Given the description of an element on the screen output the (x, y) to click on. 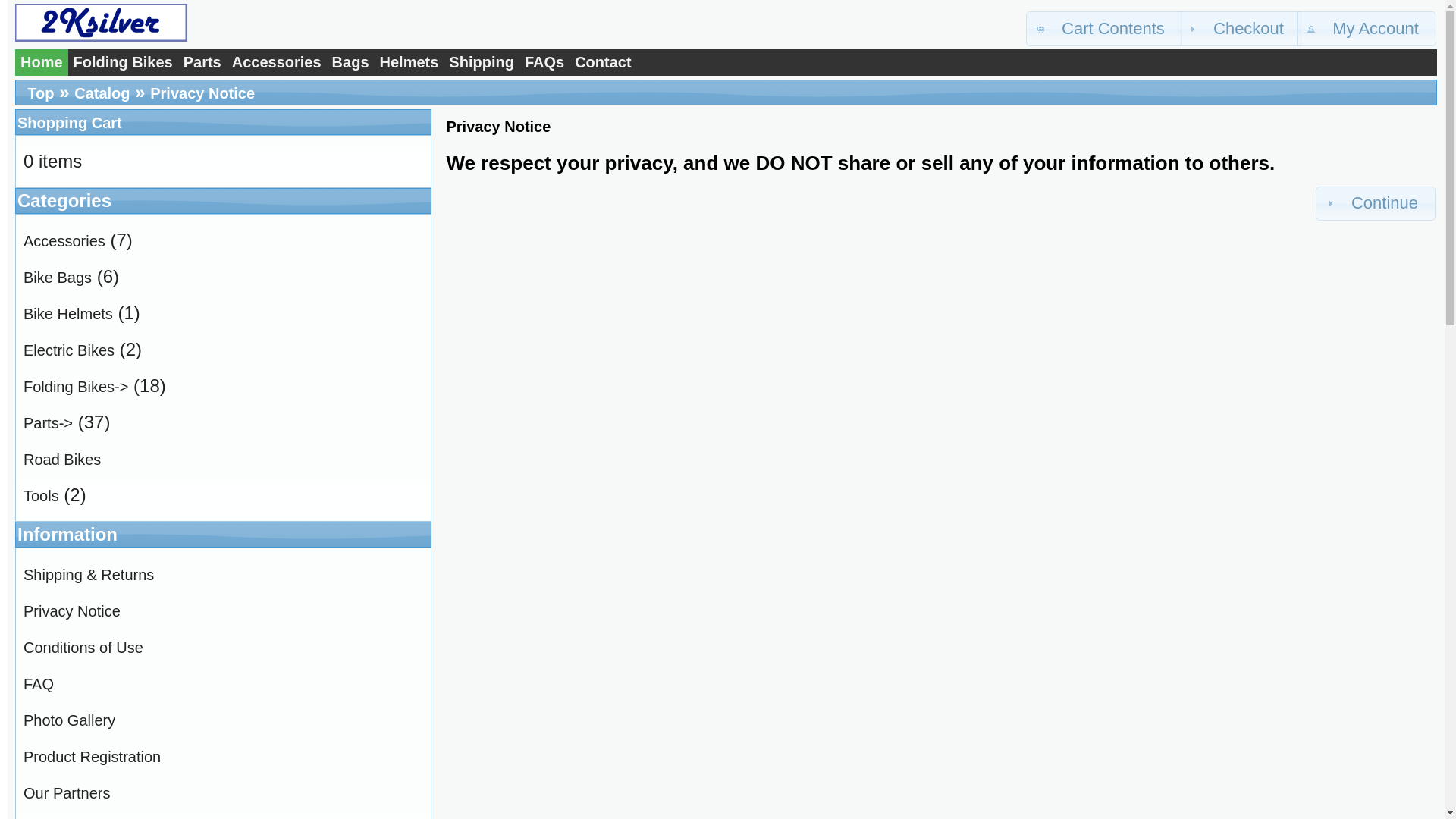
Folding Bikes by 2KSilver LLC Element type: hover (101, 22)
Home Element type: text (41, 62)
Privacy Notice Element type: text (202, 92)
Shipping & Returns Element type: text (88, 574)
Electric Bikes Element type: text (68, 350)
Accessories Element type: text (276, 62)
Tools Element type: text (41, 495)
FAQs Element type: text (544, 62)
Parts Element type: text (202, 62)
My Account Element type: text (1366, 28)
Parts-> Element type: text (47, 422)
Photo Gallery Element type: text (69, 720)
Folding Bikes-> Element type: text (75, 386)
Privacy Notice Element type: text (71, 610)
Checkout Element type: text (1239, 28)
Our Partners Element type: text (66, 792)
Shipping Element type: text (481, 62)
Catalog Element type: text (101, 92)
Helmets Element type: text (409, 62)
FAQ Element type: text (38, 683)
Shopping Cart Element type: text (69, 122)
Road Bikes Element type: text (61, 459)
Continue Element type: text (1375, 203)
Folding Bikes Element type: text (123, 62)
Contact Element type: text (602, 62)
Cart Contents Element type: text (1104, 28)
Conditions of Use Element type: text (83, 647)
Accessories Element type: text (64, 240)
Bike Bags Element type: text (57, 277)
Bags Element type: text (350, 62)
Bike Helmets Element type: text (67, 313)
Product Registration Element type: text (91, 756)
Top Element type: text (40, 92)
